Given the description of an element on the screen output the (x, y) to click on. 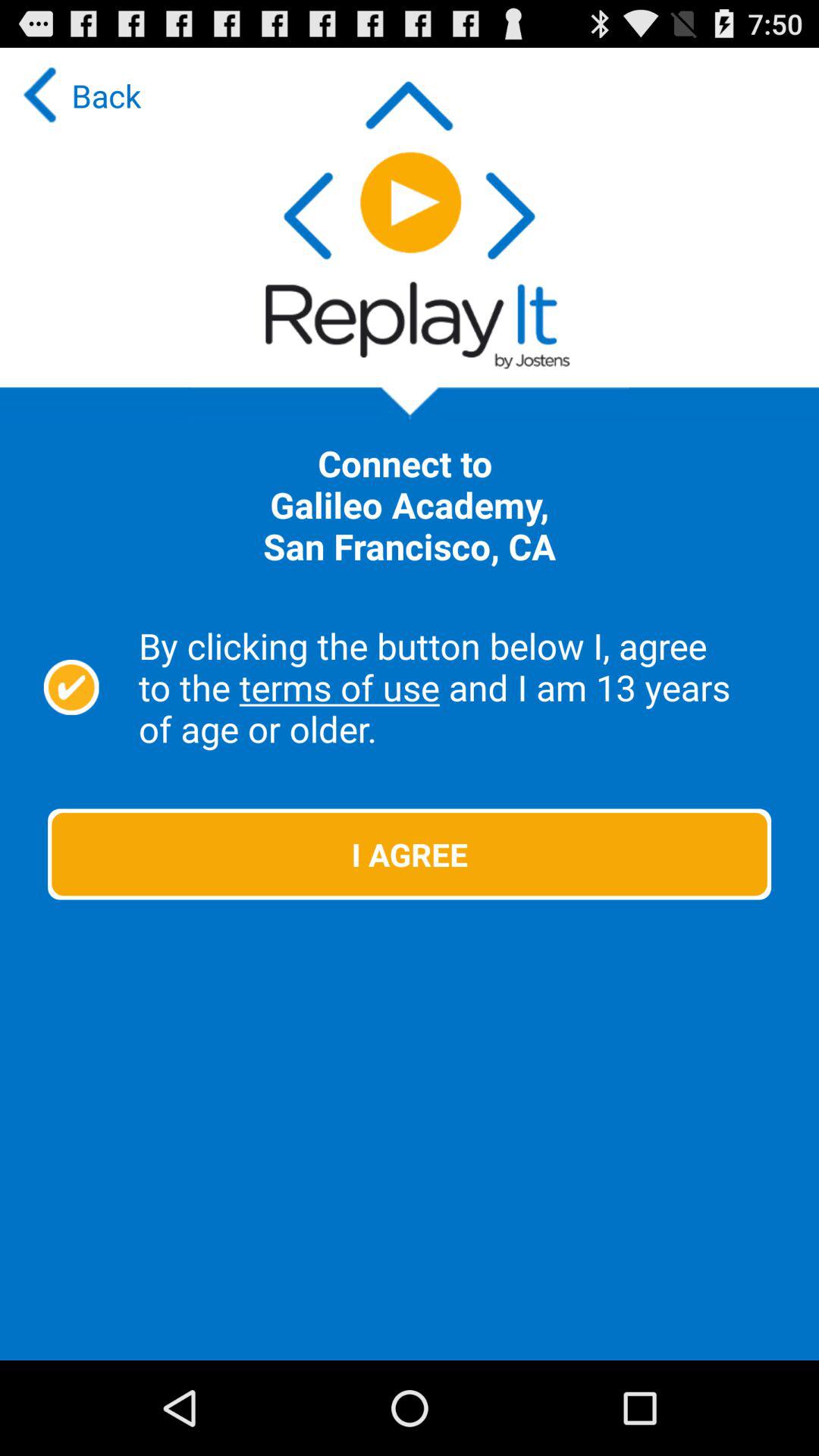
by clicking the button below (70, 686)
